Given the description of an element on the screen output the (x, y) to click on. 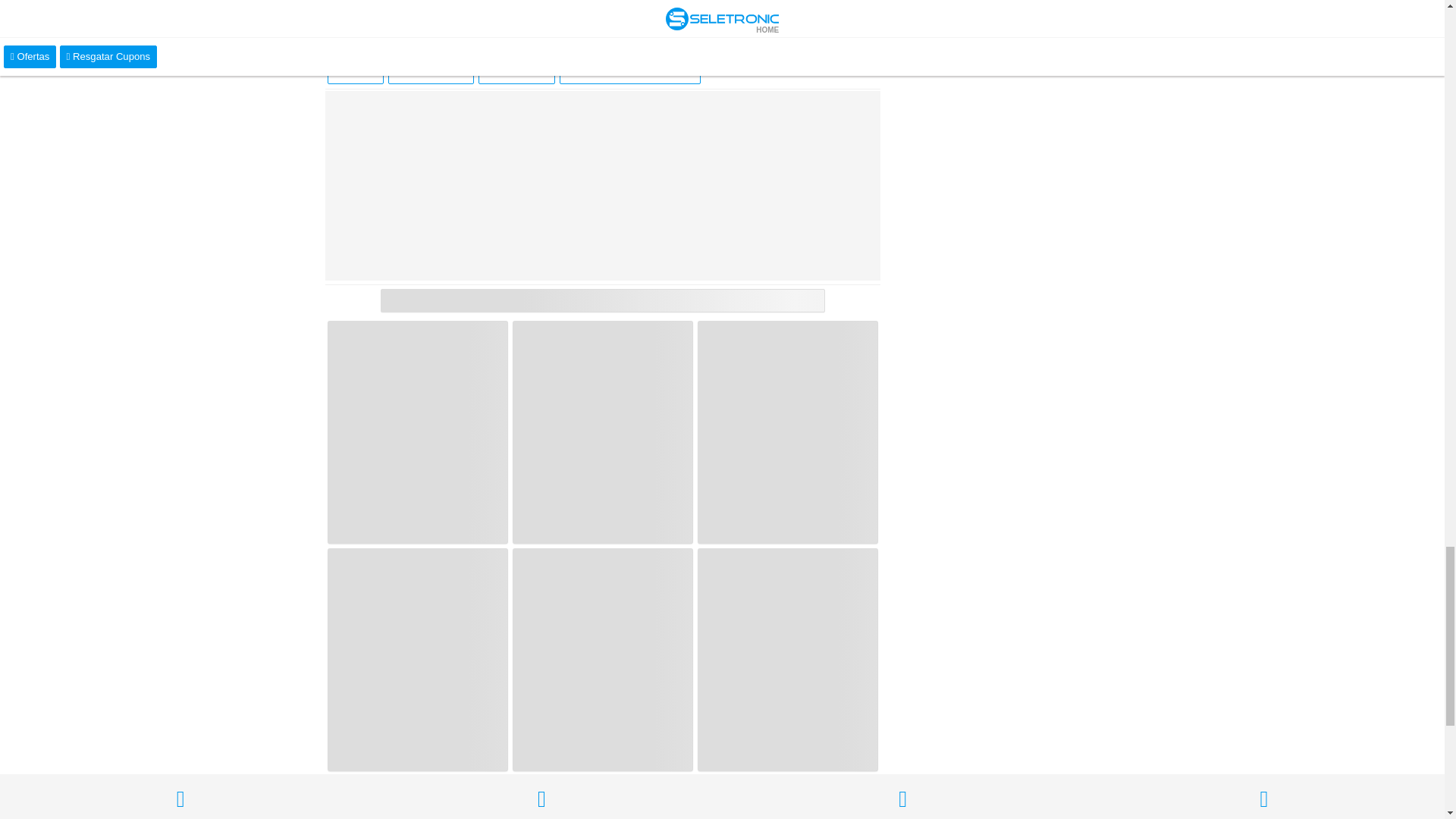
INTERNET (516, 70)
Alexa (355, 70)
ALEXA (355, 70)
Internet of Things (629, 70)
HARDWARE (431, 70)
Hardware (431, 70)
Internet (516, 70)
3rd party ad content (602, 185)
INTERNET OF THINGS (629, 70)
